Given the description of an element on the screen output the (x, y) to click on. 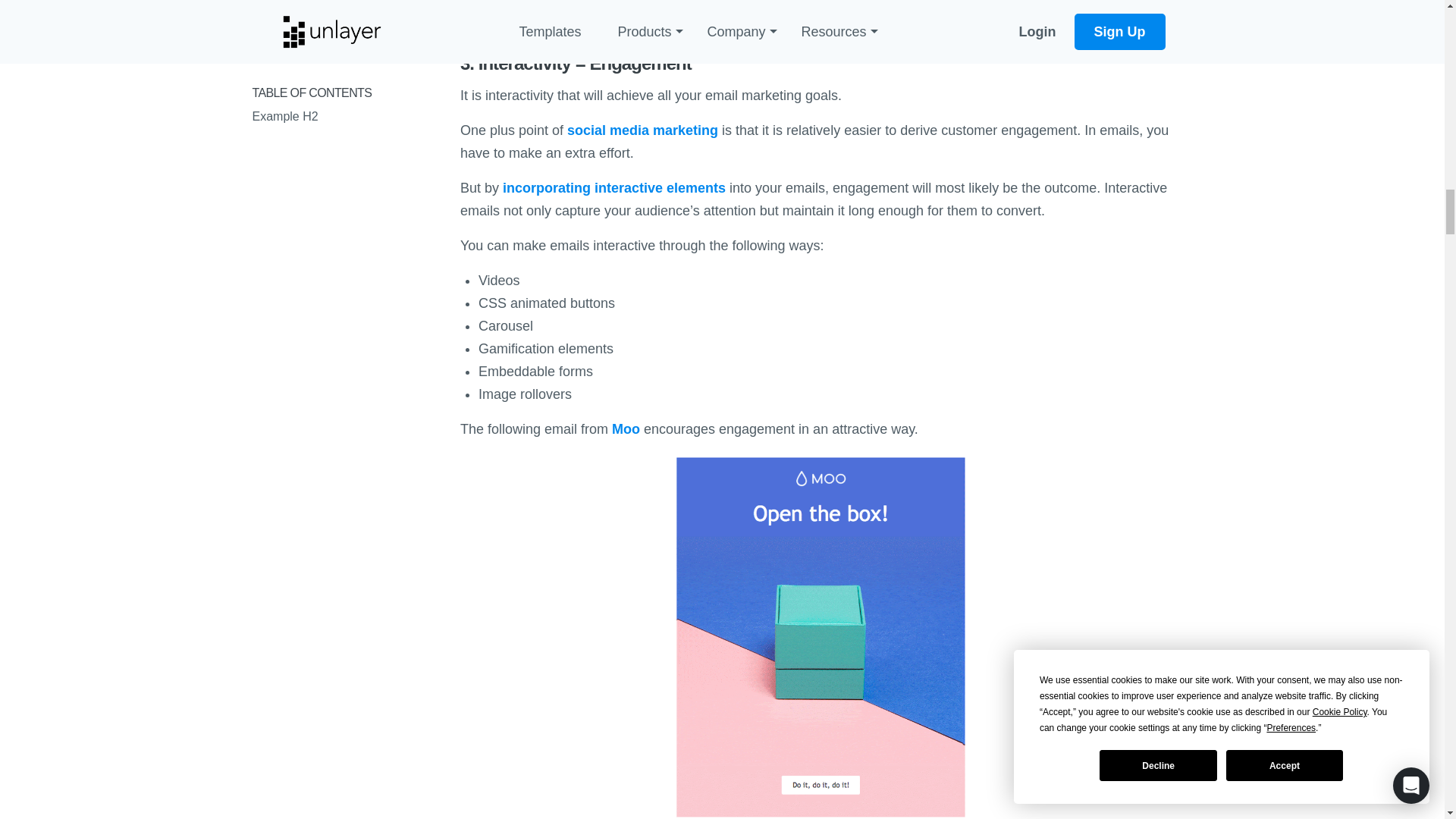
social media marketing (642, 130)
Moo (625, 428)
incorporating interactive elements (613, 187)
